Given the description of an element on the screen output the (x, y) to click on. 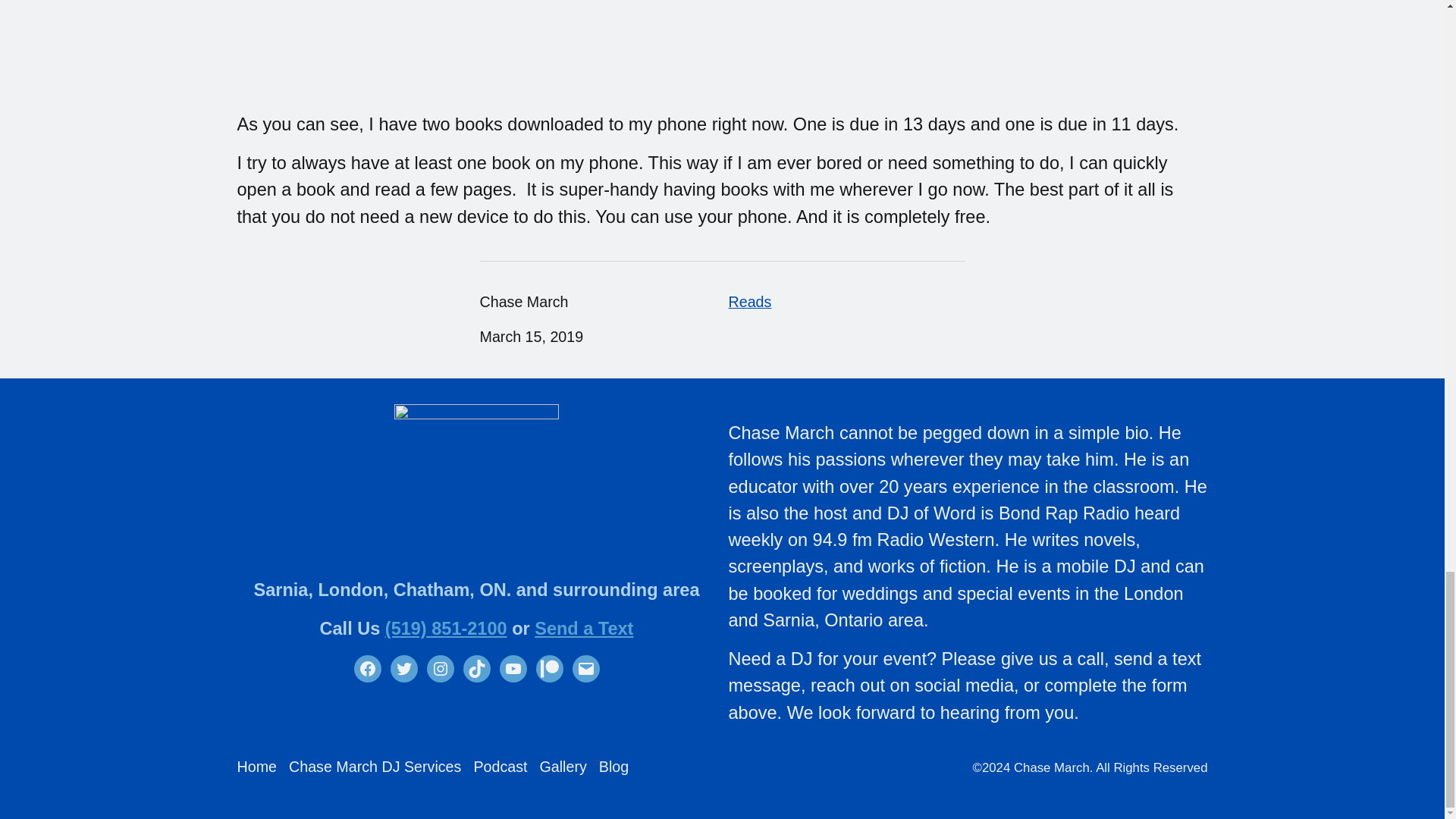
Mail (585, 668)
Home (255, 766)
Podcast (500, 766)
TikTok (476, 668)
Facebook (366, 668)
Instagram (439, 668)
Patreon (548, 668)
Reads (749, 301)
Chase March DJ Services (374, 766)
YouTube (512, 668)
Gallery (562, 766)
Send a Text (583, 628)
Blog (613, 766)
Twitter (403, 668)
